Given the description of an element on the screen output the (x, y) to click on. 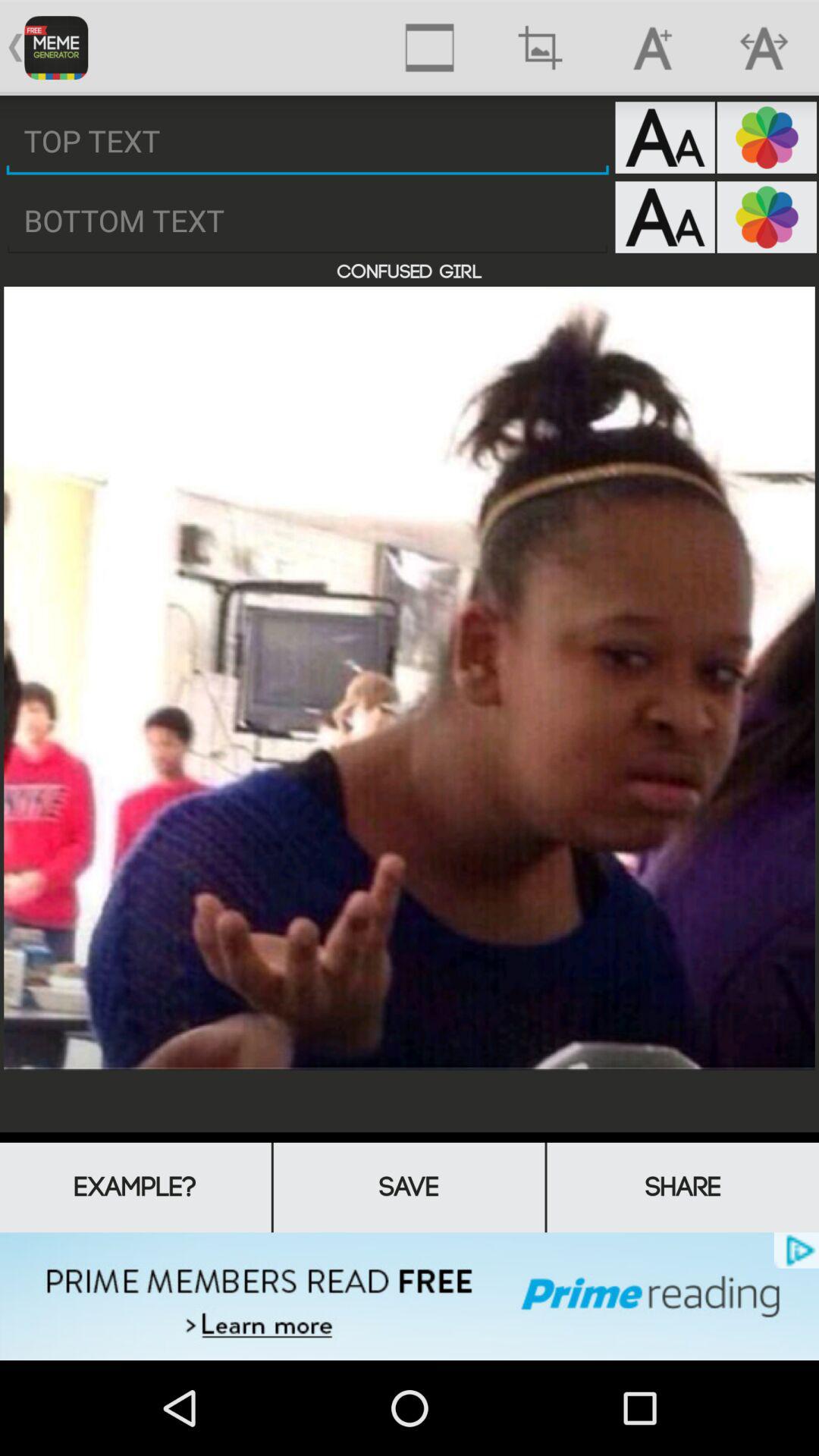
top text font sizer (664, 137)
